Given the description of an element on the screen output the (x, y) to click on. 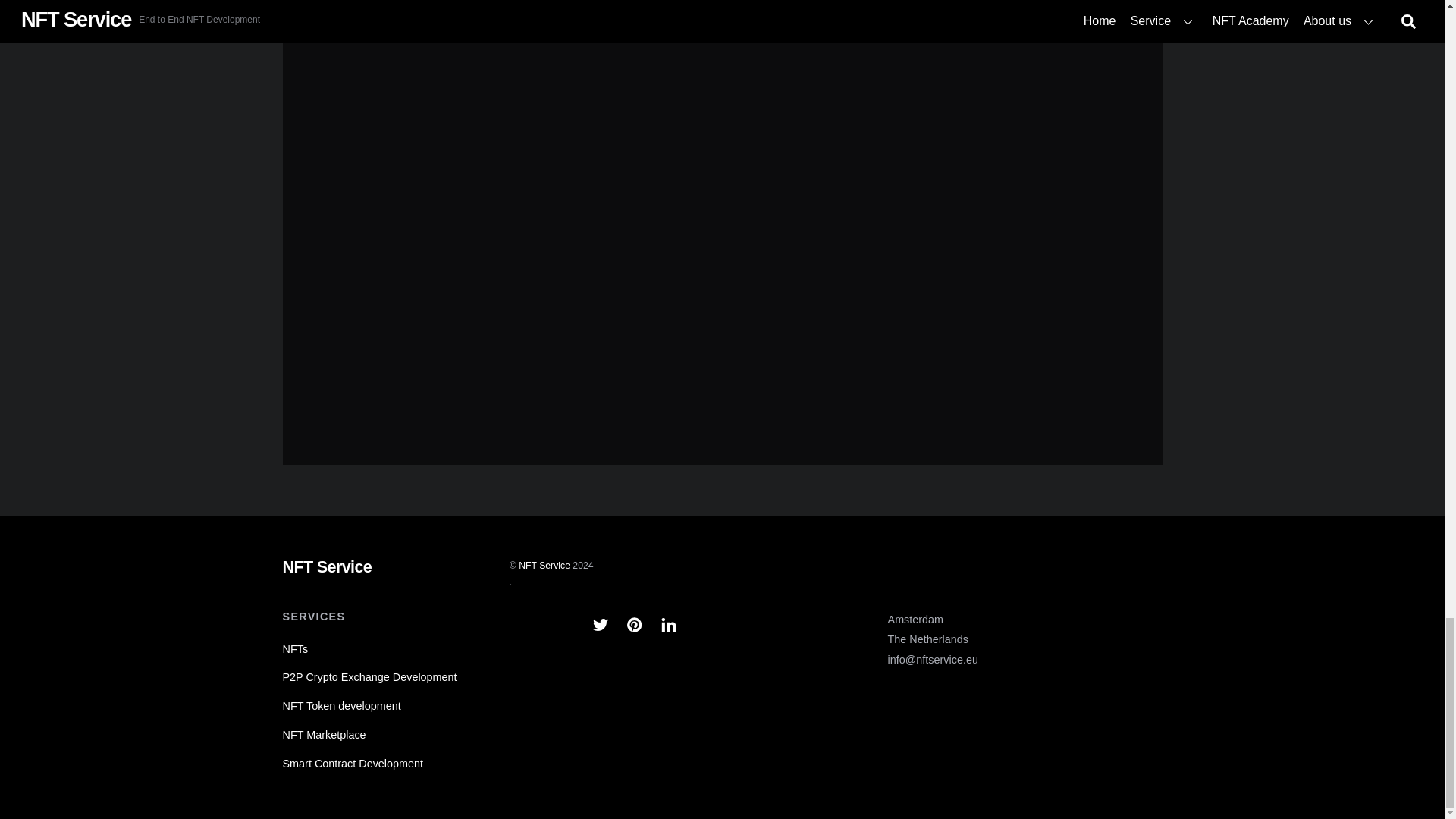
NFT Service (544, 565)
NFT Service (326, 566)
NFT Service (326, 566)
NFT Marketplace (323, 734)
Smart Contract Development (352, 763)
NFTs (294, 648)
NFT Token development (341, 705)
P2P Crypto Exchange Development (369, 676)
